Given the description of an element on the screen output the (x, y) to click on. 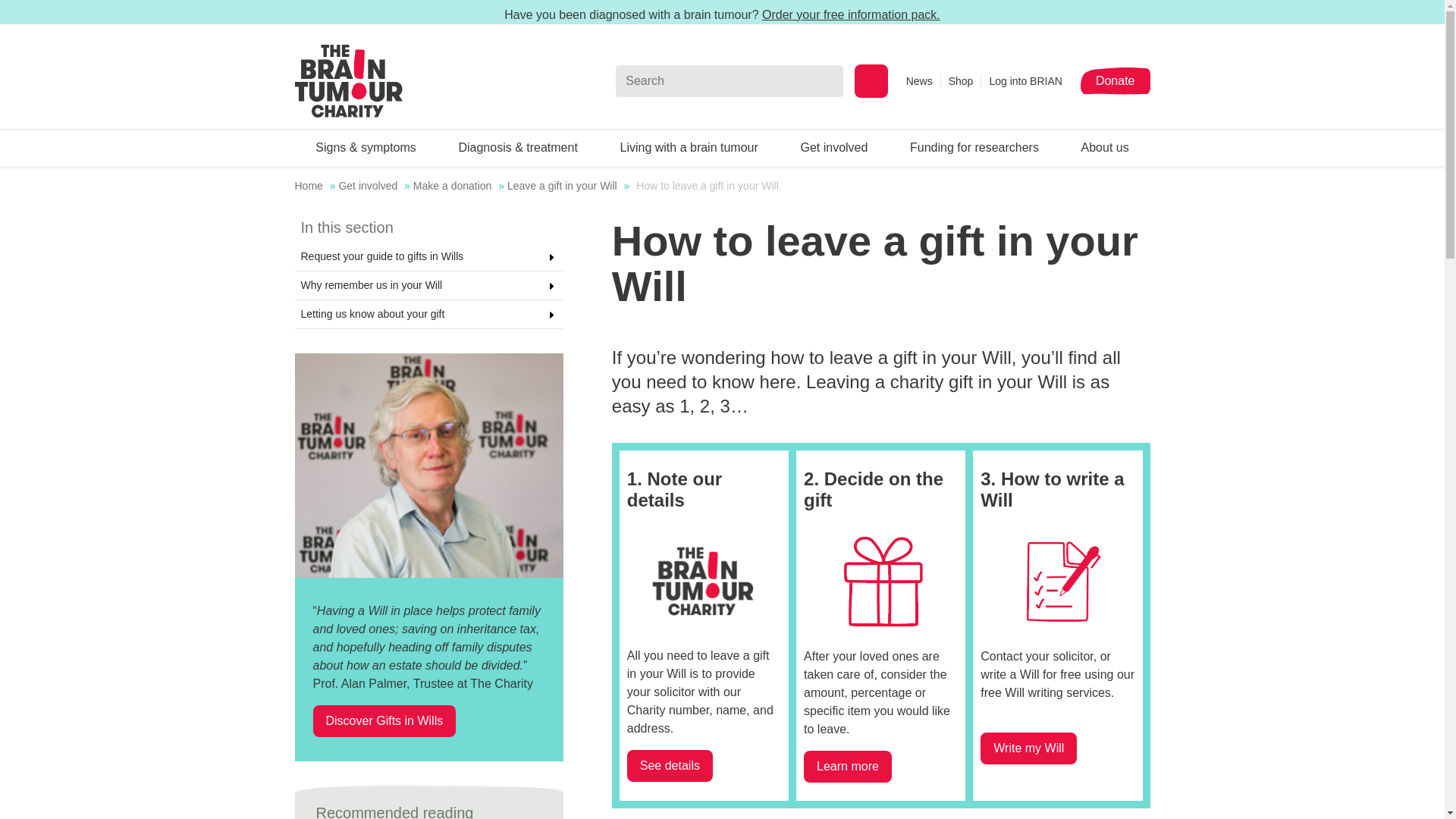
Order your free information pack. (850, 14)
Donate (1115, 81)
News (922, 80)
Log into BRIAN (1025, 80)
Shop (965, 80)
